Given the description of an element on the screen output the (x, y) to click on. 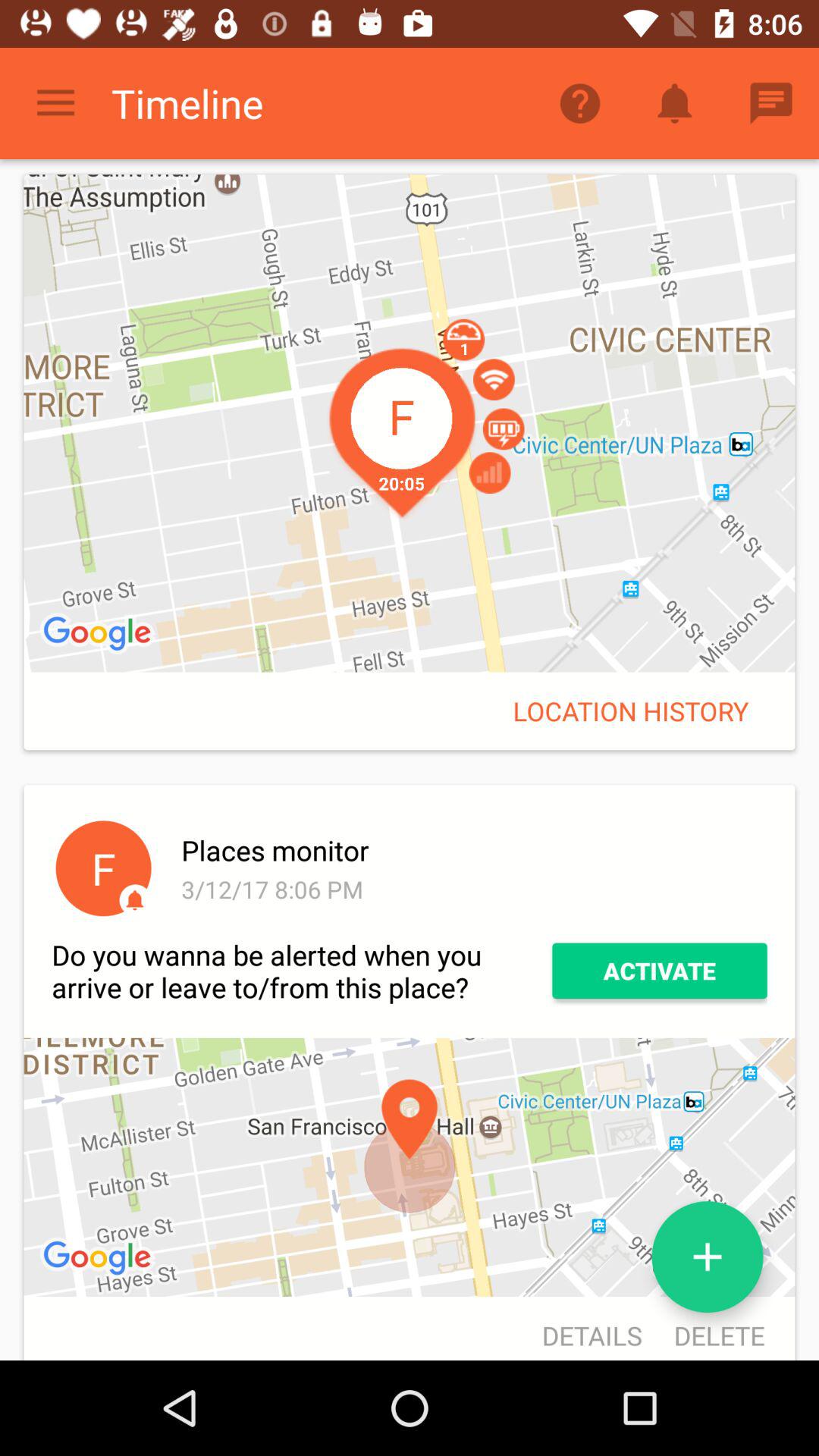
tap the icon above 3 12 17 item (472, 850)
